Given the description of an element on the screen output the (x, y) to click on. 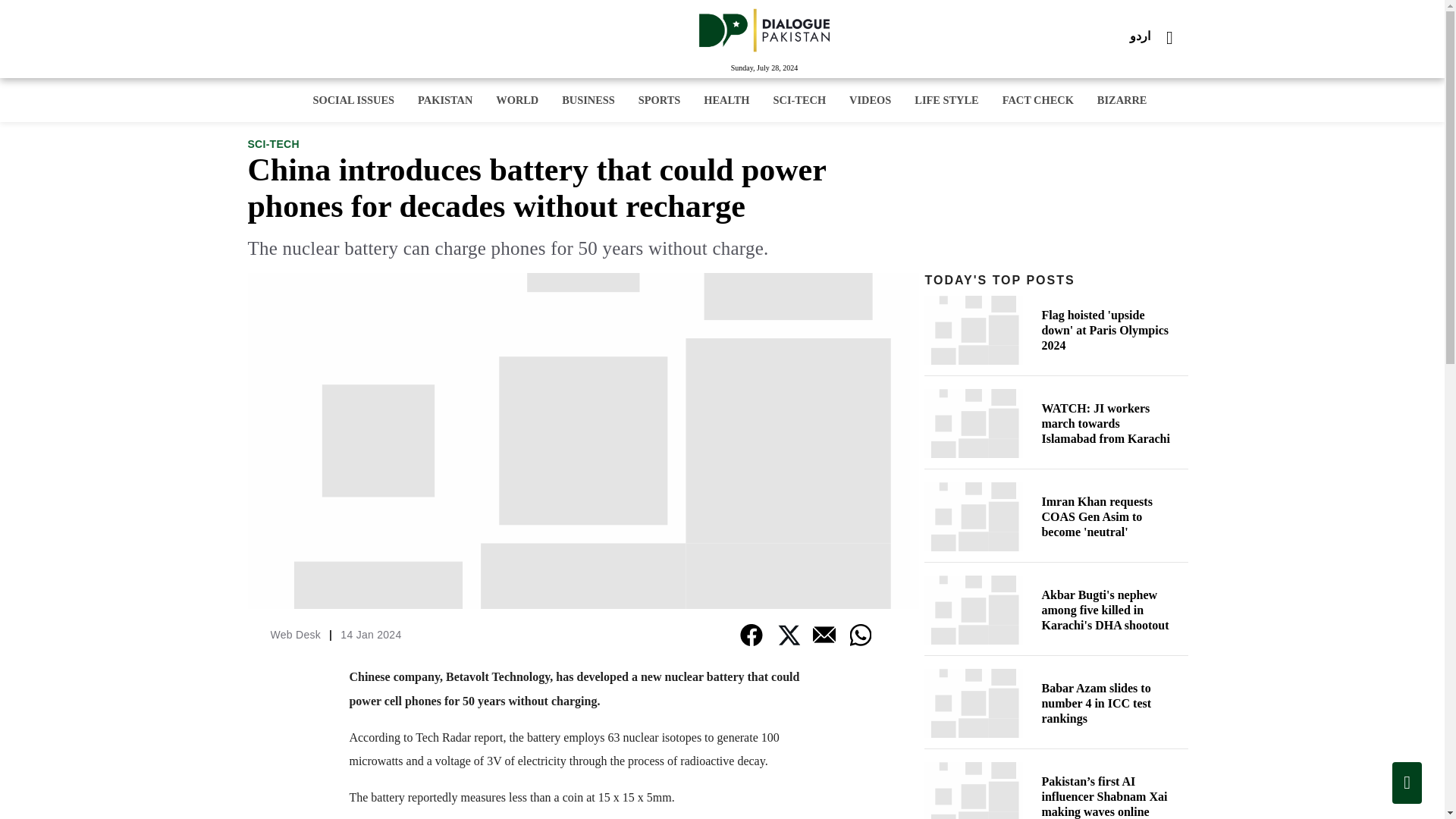
LIFE STYLE (946, 99)
Imran Khan requests COAS Gen Asim to become 'neutral' (1056, 516)
SCI-TECH (272, 143)
Babar Azam slides to number 4 in ICC test rankings (1056, 703)
SOCIAL ISSUES (353, 99)
PAKISTAN (444, 99)
WATCH: JI workers march towards Islamabad from Karachi (1056, 423)
HEALTH (726, 99)
SPORTS (659, 99)
BIZARRE (1122, 99)
FACT CHECK (1038, 99)
Flag hoisted 'upside down' at Paris Olympics 2024 (1056, 329)
Sunday, July 28, 2024 (763, 67)
BUSINESS (588, 99)
